Given the description of an element on the screen output the (x, y) to click on. 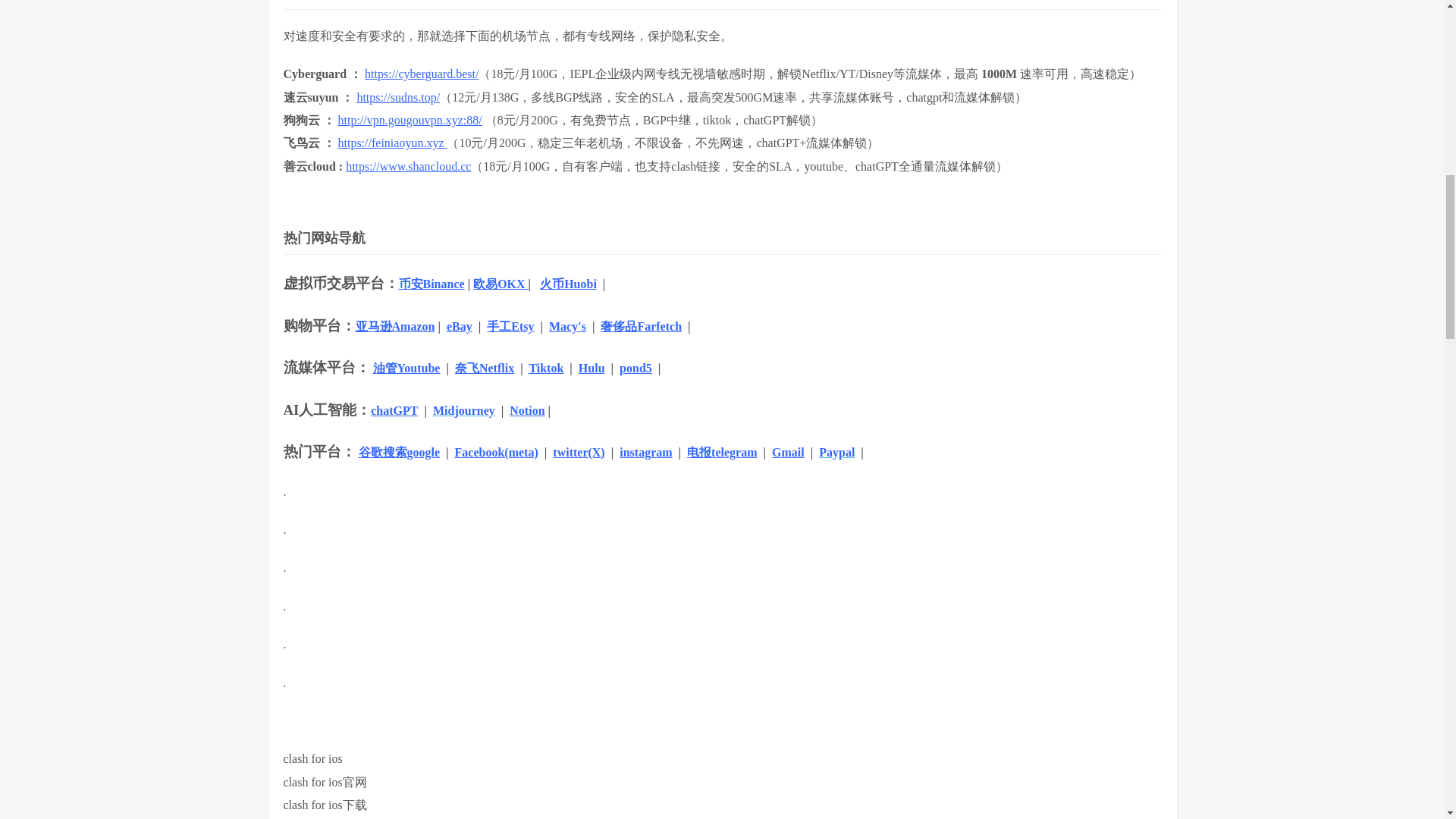
instagram (645, 451)
Tiktok (545, 367)
eBay (458, 326)
Hulu (591, 367)
Notion (526, 410)
Midjourney (463, 410)
Macy's (567, 326)
pond5 (636, 367)
Gmail (788, 451)
chatGPT (394, 409)
